Given the description of an element on the screen output the (x, y) to click on. 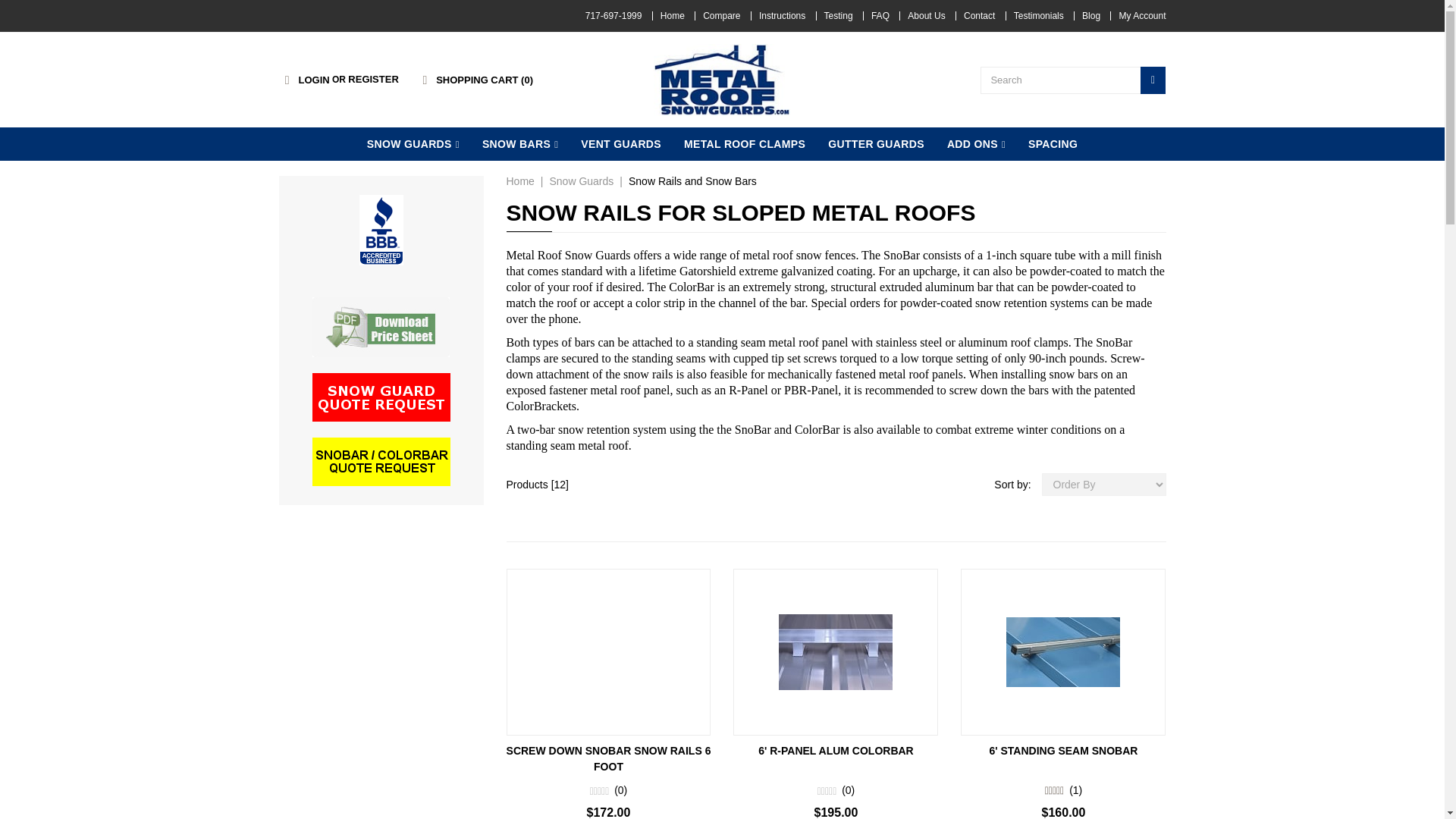
GUTTER GUARDS (876, 143)
SNOW BARS (519, 143)
Compare (721, 15)
Blog (1090, 15)
Instructions (781, 15)
FAQ (879, 15)
VENT GUARDS (620, 143)
My Account (1142, 15)
home (721, 78)
Snow Guard Price Quote (381, 396)
